Given the description of an element on the screen output the (x, y) to click on. 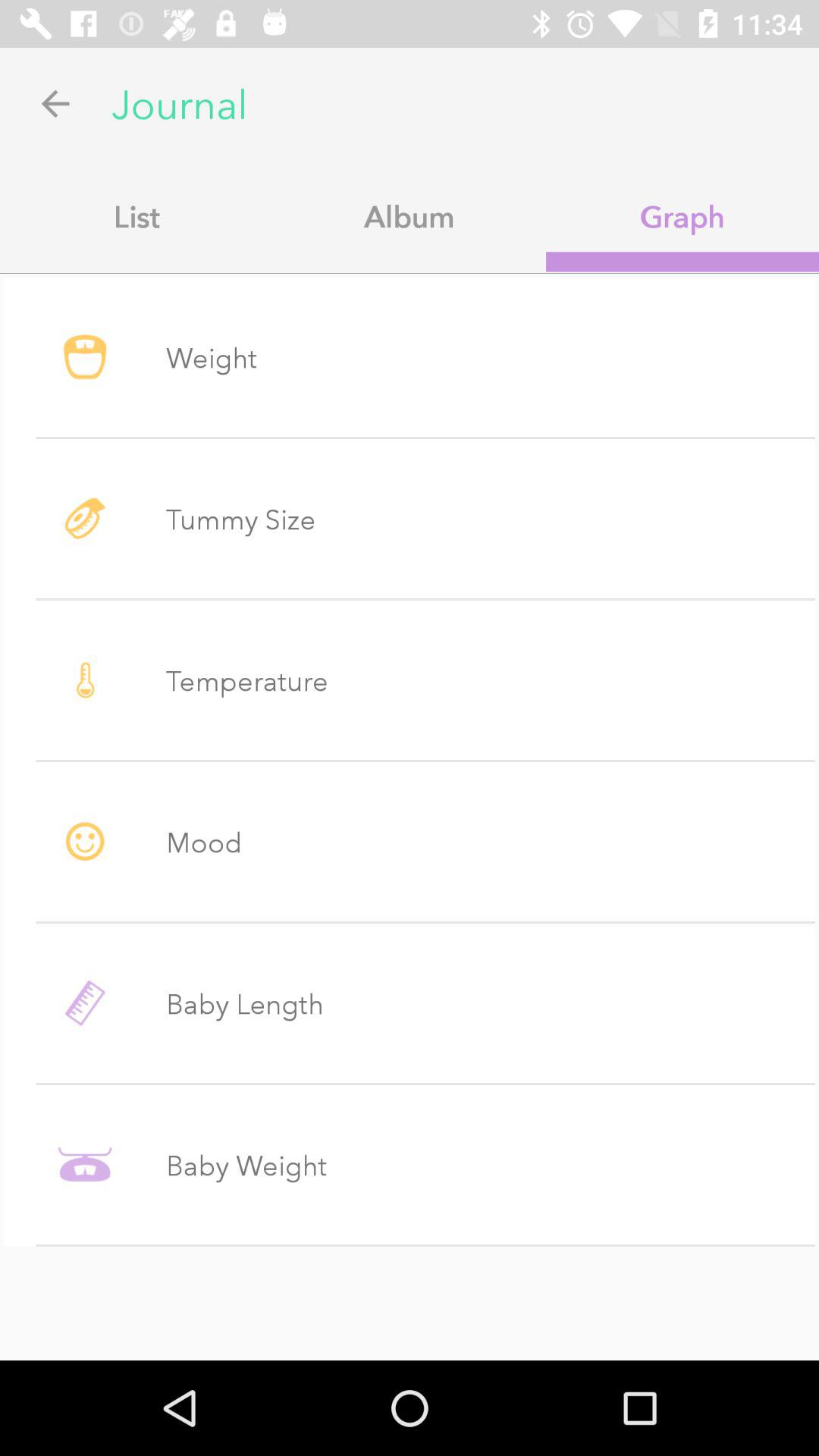
turn off item to the left of journal item (55, 103)
